Given the description of an element on the screen output the (x, y) to click on. 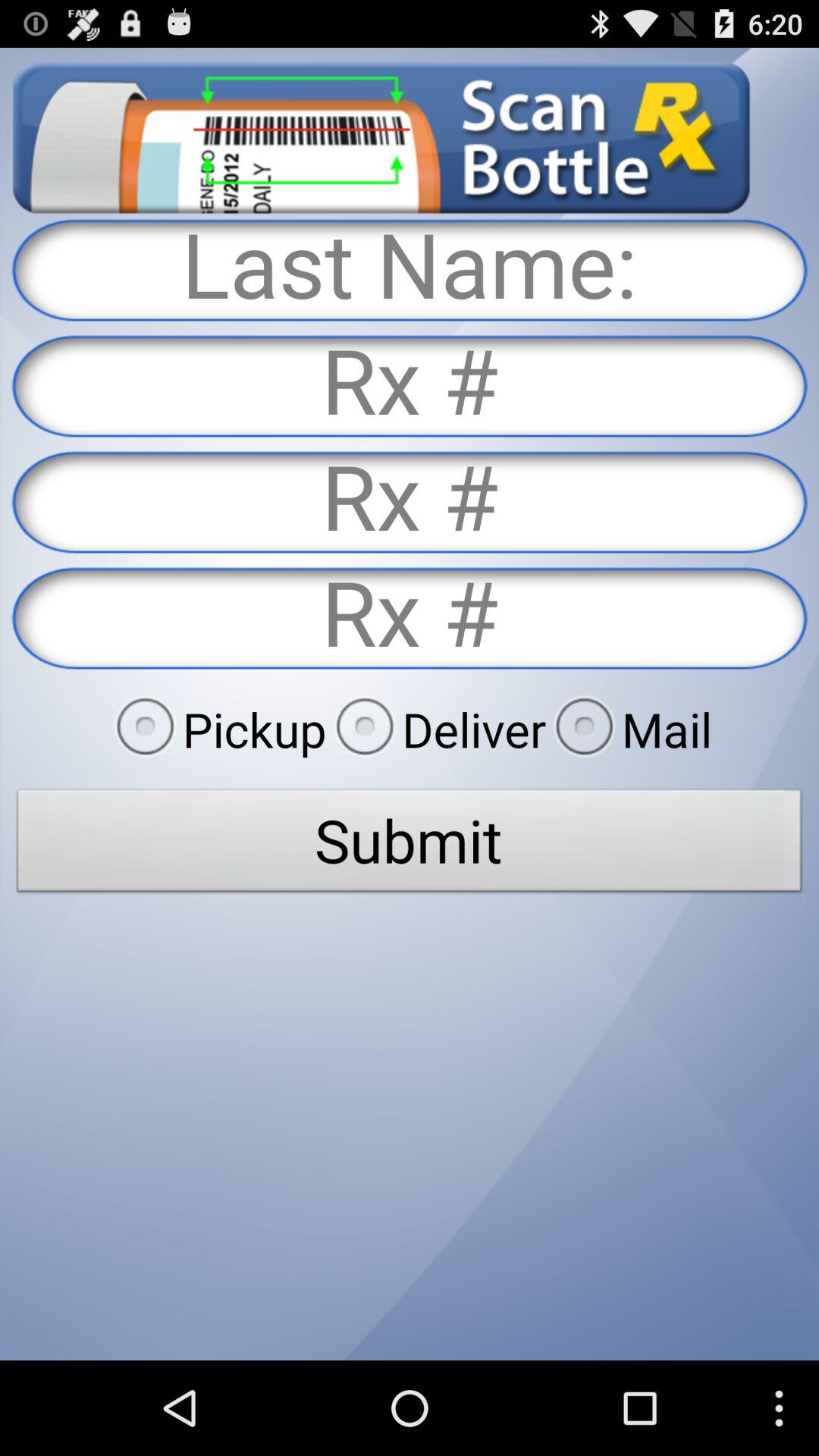
select item to the left of the deliver radio button (216, 728)
